Given the description of an element on the screen output the (x, y) to click on. 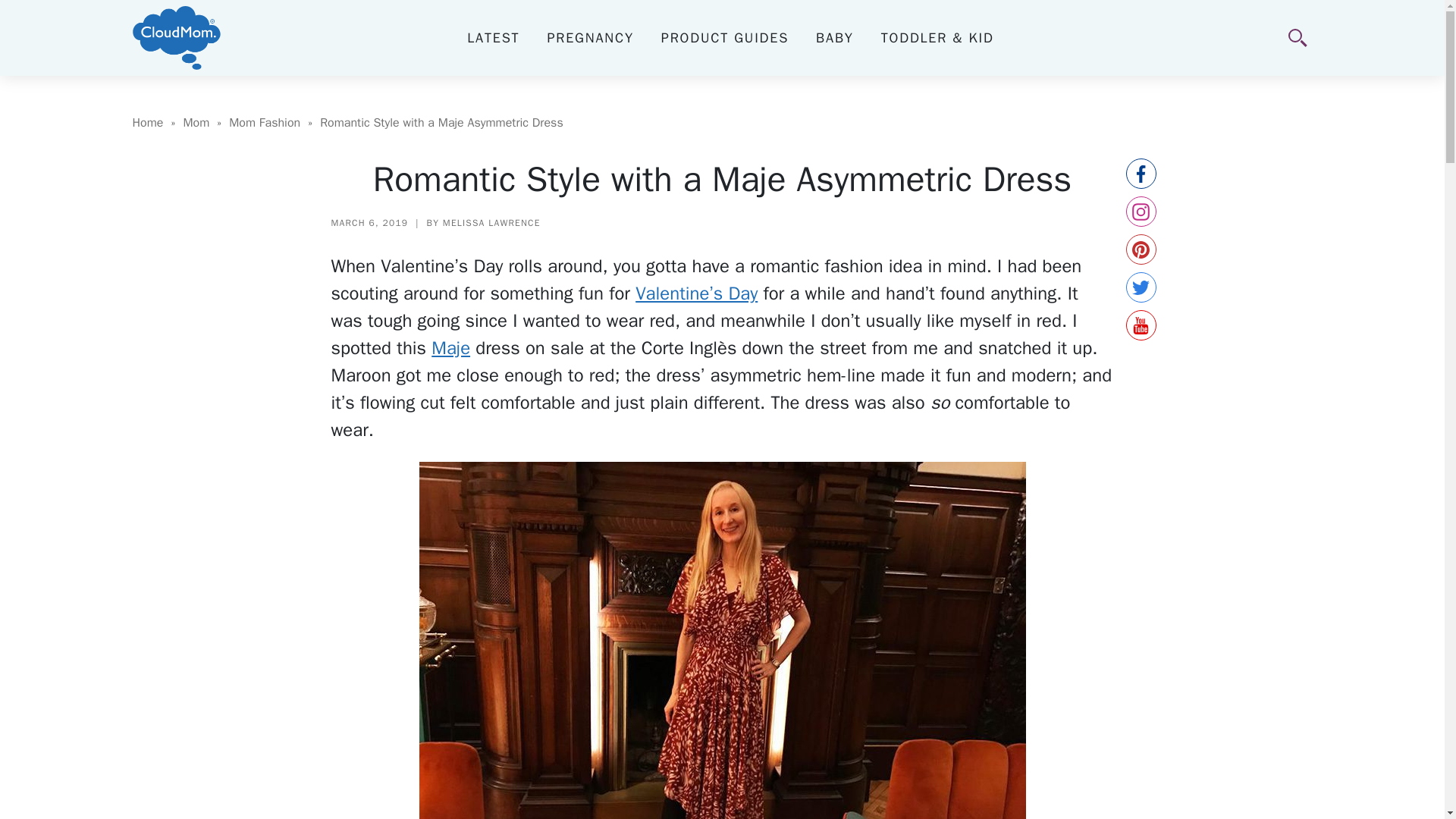
youtube (1140, 325)
twitter (1140, 286)
instagram (1140, 211)
facebook (1140, 173)
PREGNANCY (590, 37)
LATEST (493, 37)
pinterest (1140, 249)
